Given the description of an element on the screen output the (x, y) to click on. 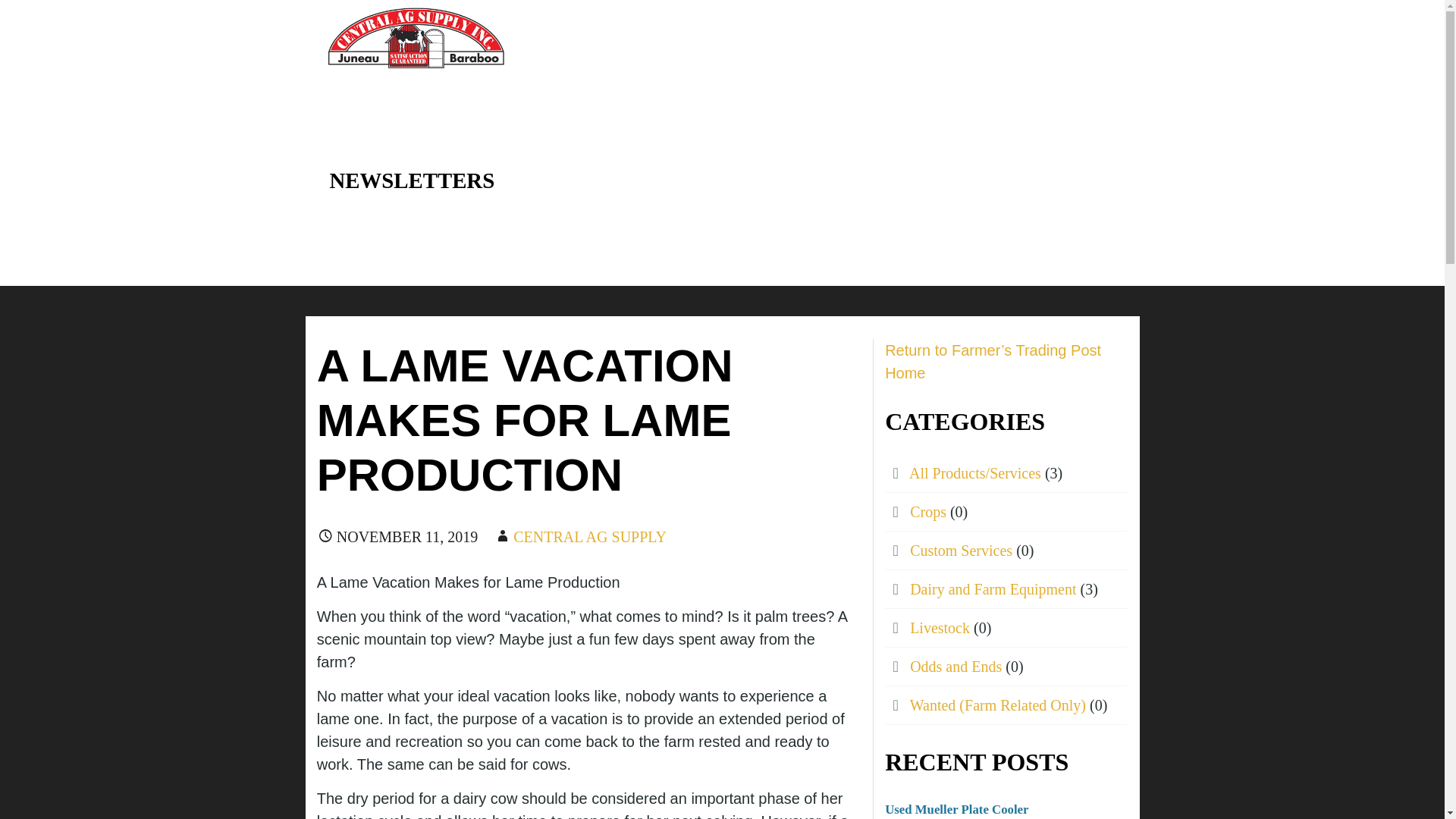
Dairy and Farm Equipment (992, 588)
Livestock (939, 627)
Used Mueller Plate Cooler (956, 809)
Custom Services (960, 550)
CENTRAL AG SUPPLY (589, 536)
Posts by Central Ag Supply (589, 536)
CONTACT (897, 38)
CENTRAL AG SUPPLY SERVICES (482, 86)
Crops (928, 511)
TECHNICAL RESOURCES (1041, 38)
CAREERS (653, 38)
Odds and Ends (955, 666)
